Given the description of an element on the screen output the (x, y) to click on. 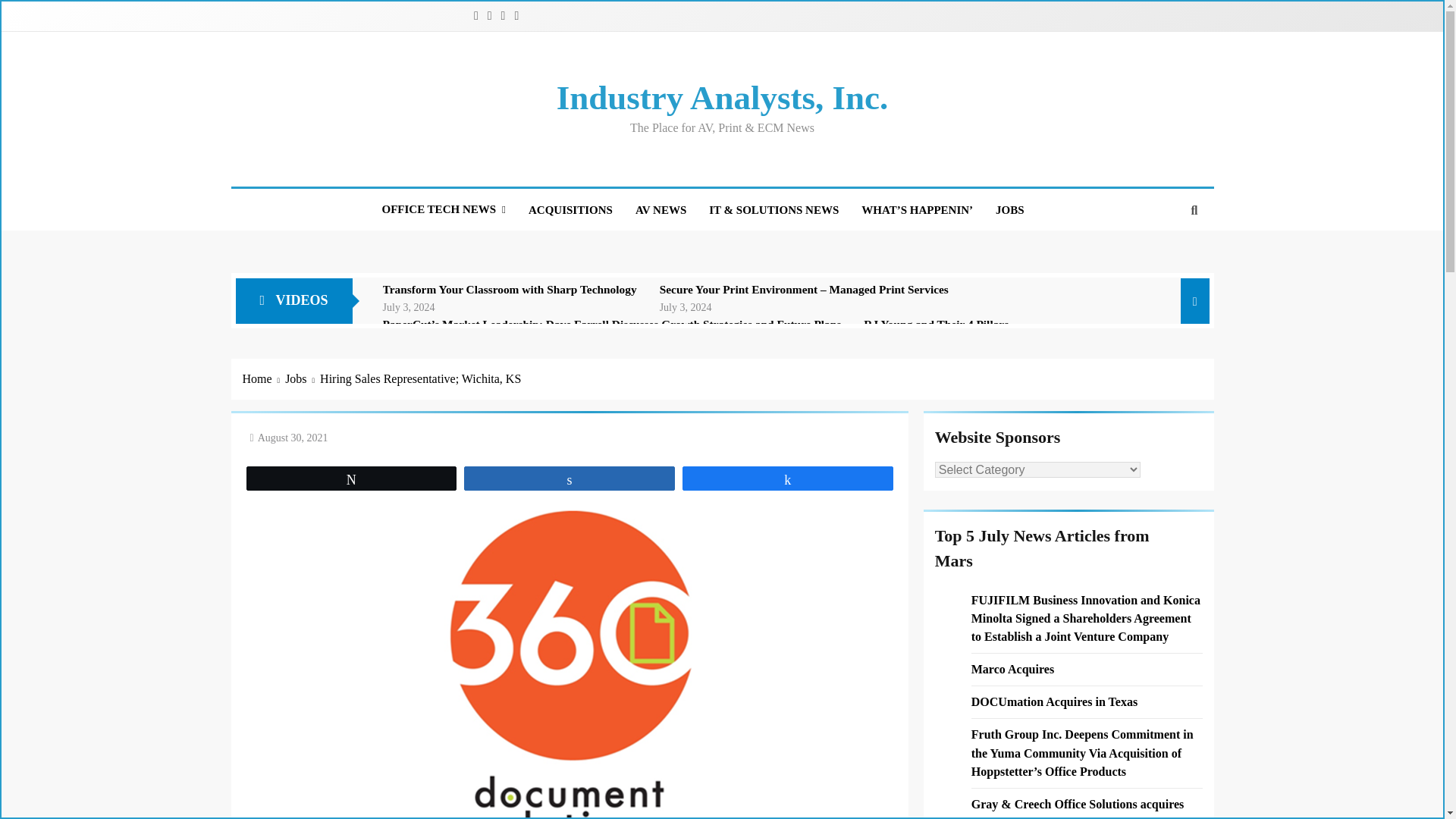
July 3, 2024 (408, 306)
July 3, 2024 (685, 306)
Industry Analysts, Inc. (722, 97)
AV NEWS (660, 209)
JOBS (1009, 209)
RJ Young and Their 4 Pillars (936, 324)
Acquisitions (570, 209)
Jobs (302, 379)
August 30, 2021 (293, 437)
Home (264, 379)
OFFICE TECH NEWS (442, 209)
Transform Your Classroom with Sharp Technology (509, 289)
RJ Young and Their 4 Pillars (936, 324)
Transform Your Classroom with Sharp Technology (509, 289)
